Given the description of an element on the screen output the (x, y) to click on. 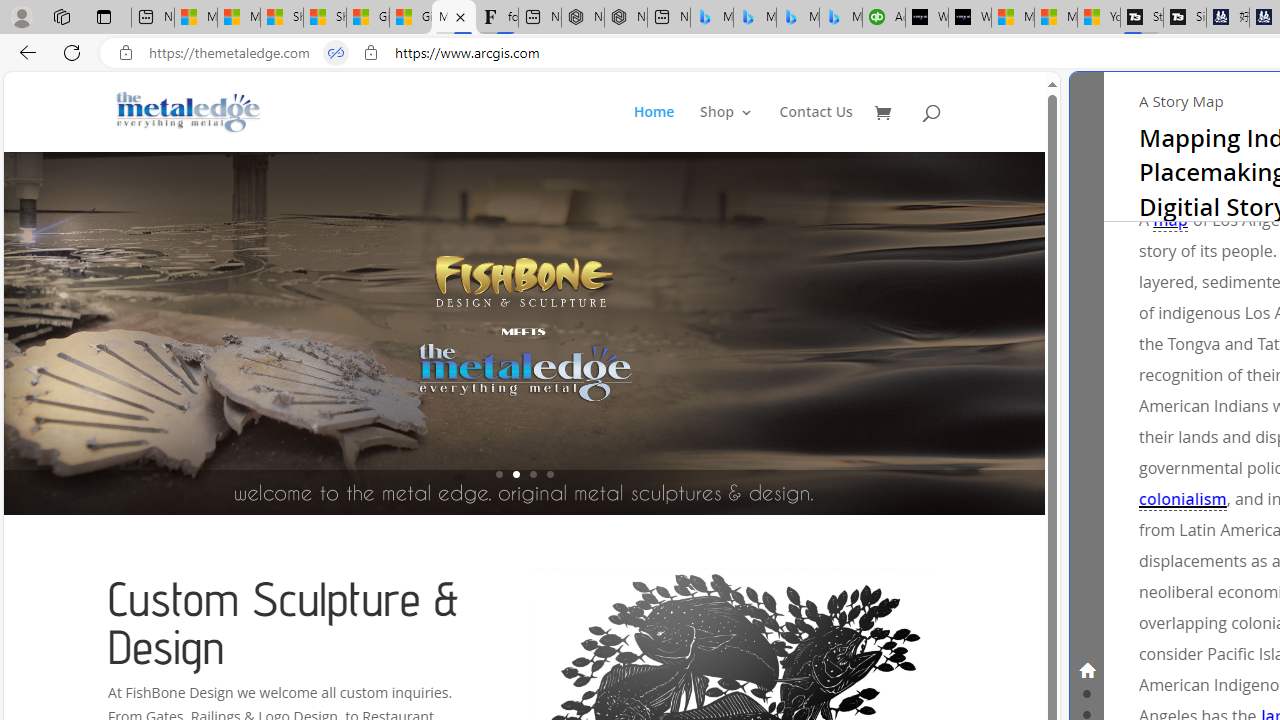
Metal Fish Sculptures & Metal Designs (189, 111)
Shop 3 (726, 128)
Accounting Software for Accountants, CPAs and Bookkeepers (883, 17)
Microsoft Bing Travel - Stays in Bangkok, Bangkok, Thailand (754, 17)
A Story Map (1181, 100)
Skip to narrative (1143, 92)
